Given the description of an element on the screen output the (x, y) to click on. 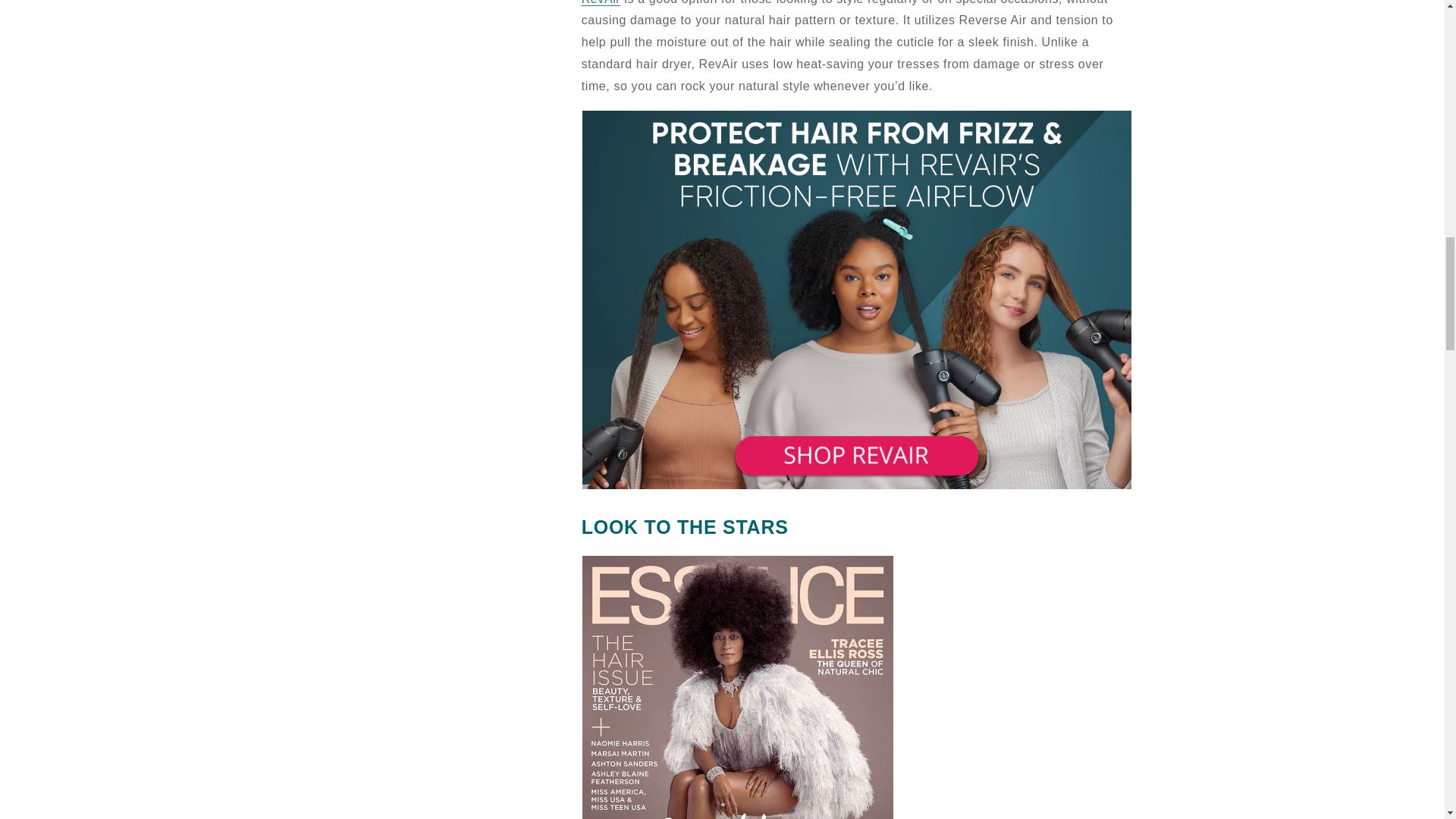
RevAir (600, 2)
RevAir product page (856, 488)
